Given the description of an element on the screen output the (x, y) to click on. 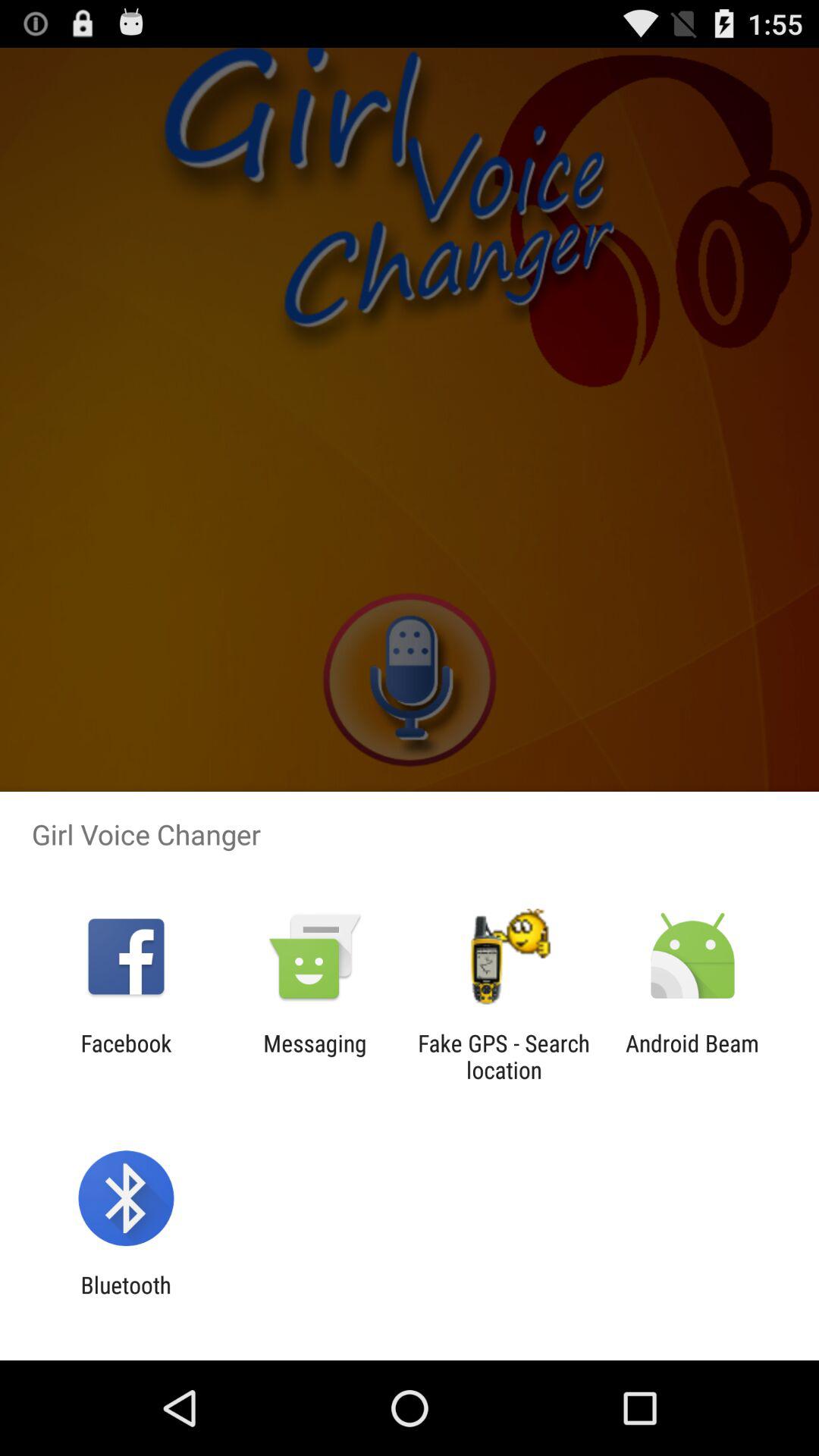
flip to facebook (125, 1056)
